Given the description of an element on the screen output the (x, y) to click on. 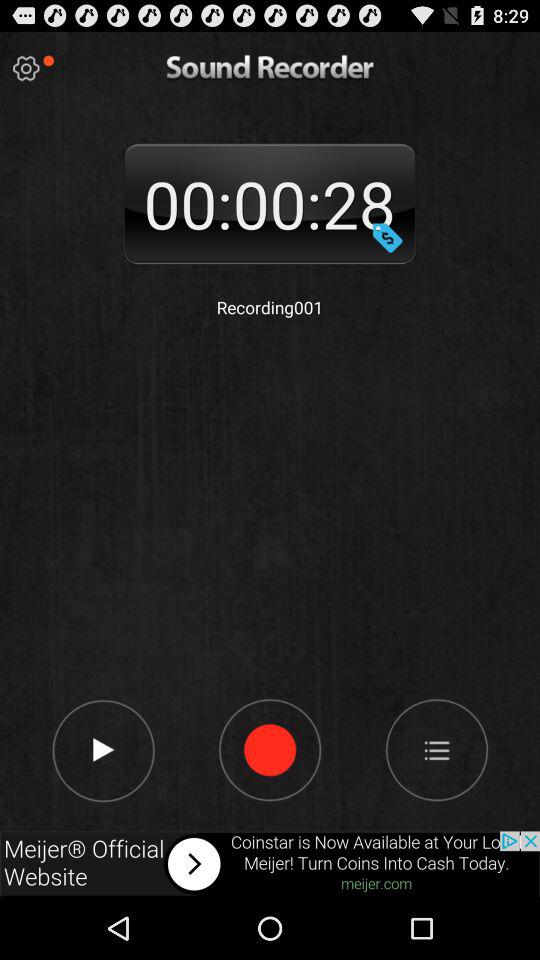
settings option (26, 68)
